Given the description of an element on the screen output the (x, y) to click on. 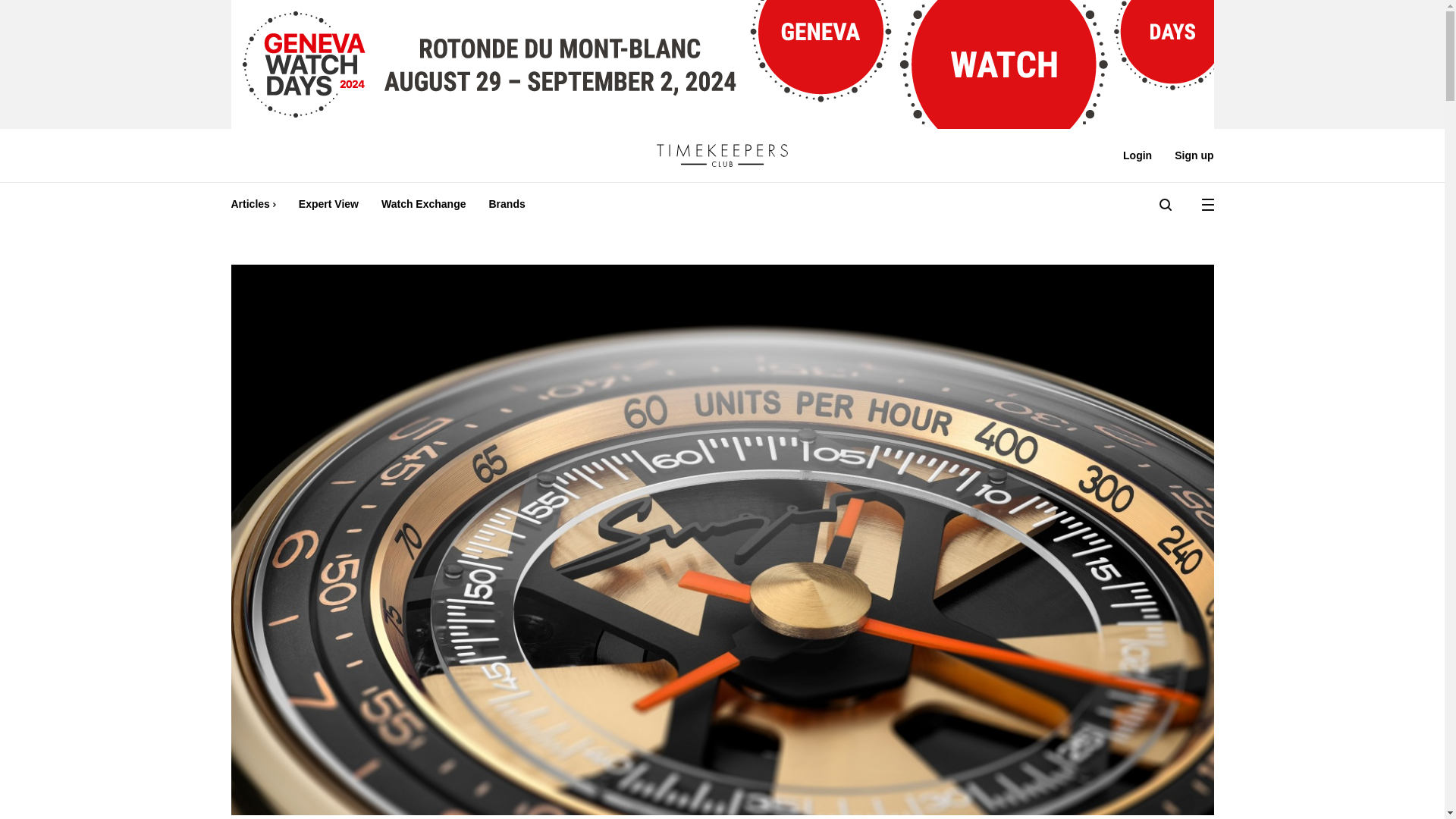
Articles (258, 204)
Expert View (327, 204)
Login (1137, 155)
Brands (507, 204)
Watch Exchange (423, 204)
Sign up (1187, 155)
